Given the description of an element on the screen output the (x, y) to click on. 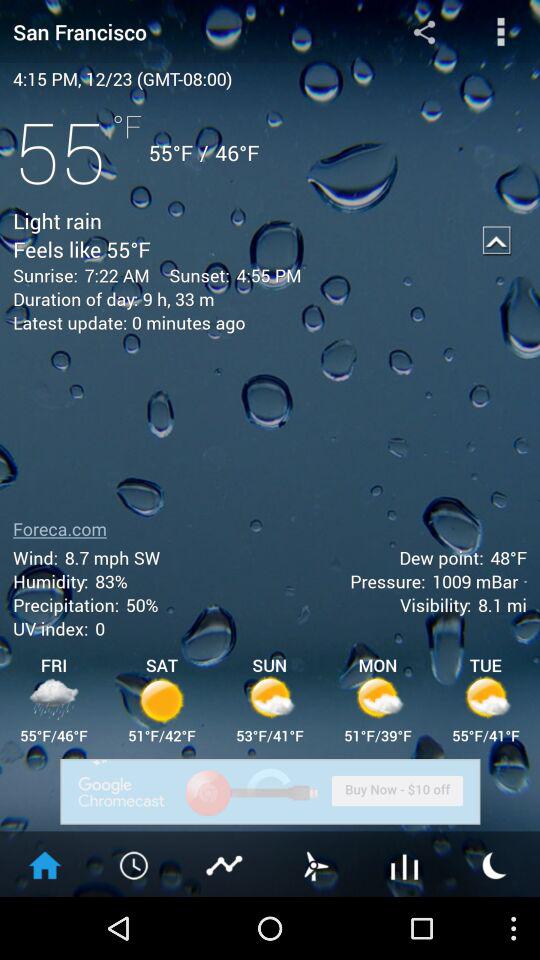
press app next to the 4:55 pm (496, 240)
